Given the description of an element on the screen output the (x, y) to click on. 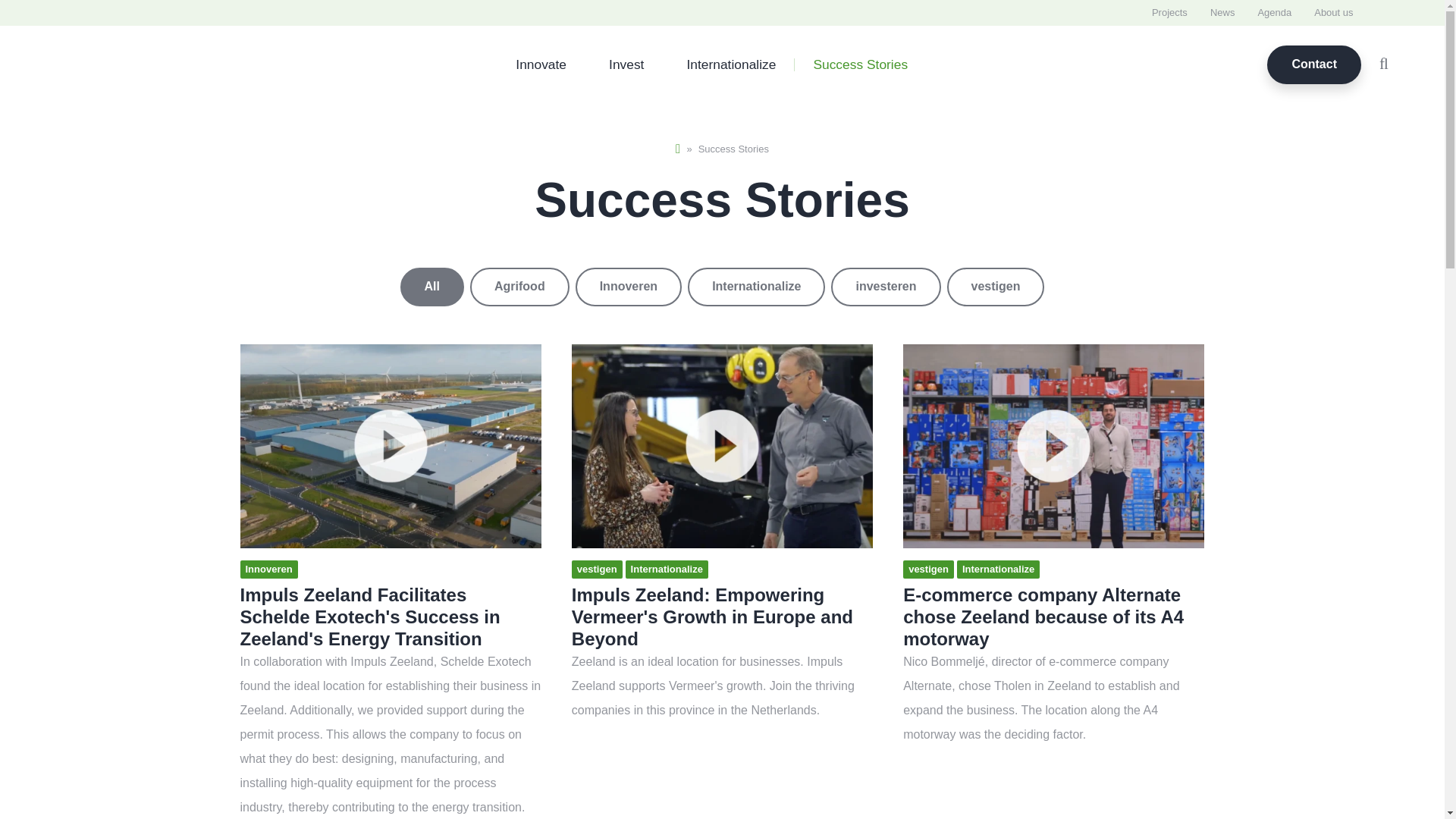
en (1400, 12)
Contact (1313, 64)
on (721, 286)
Projects (1169, 12)
3211 (721, 286)
Internationalize (730, 64)
9951 (721, 286)
14078 (721, 286)
About us (1333, 12)
Internationalize (730, 64)
10846 (721, 286)
nl (1382, 12)
Impuls Zeeland (96, 64)
Projects (1169, 12)
Agenda (1274, 12)
